Given the description of an element on the screen output the (x, y) to click on. 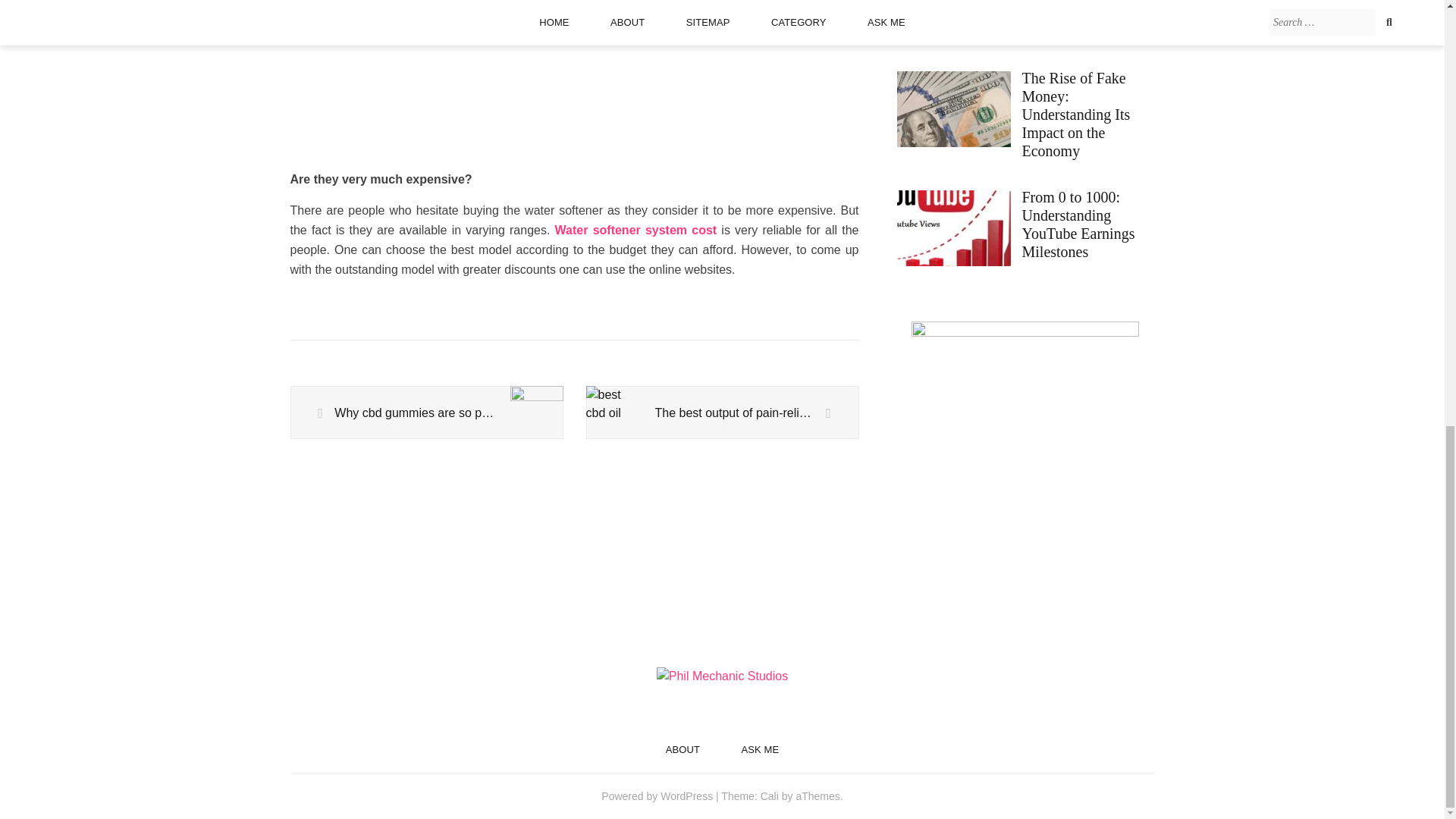
Why cbd gummies are so popular? (426, 412)
ASK ME (759, 749)
Why cbd gummies are so popular? (426, 412)
WordPress (687, 796)
Water softener system cost (635, 229)
From 0 to 1000: Understanding YouTube Earnings Milestones (1025, 229)
The best output of pain-relieving oil (722, 412)
ABOUT (682, 749)
